Given the description of an element on the screen output the (x, y) to click on. 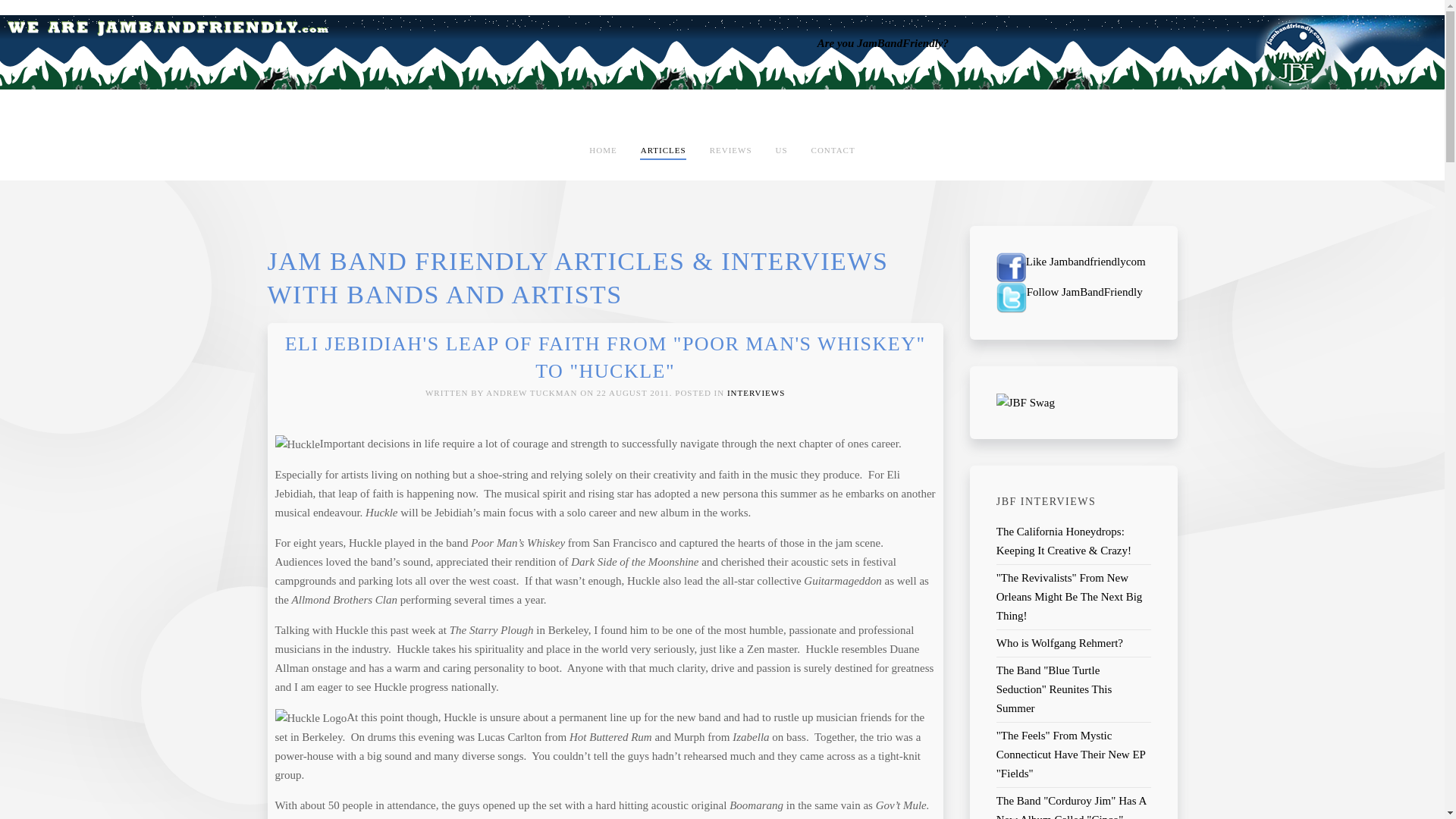
ARTICLES (662, 150)
Who is Wolfgang Rehmert? (1058, 643)
HOME (602, 150)
REVIEWS (730, 150)
We Are Jambandfriendly.com (167, 27)
INTERVIEWS (755, 392)
JBF Swag (1024, 401)
jambandfriendly on twitter (1010, 297)
